Given the description of an element on the screen output the (x, y) to click on. 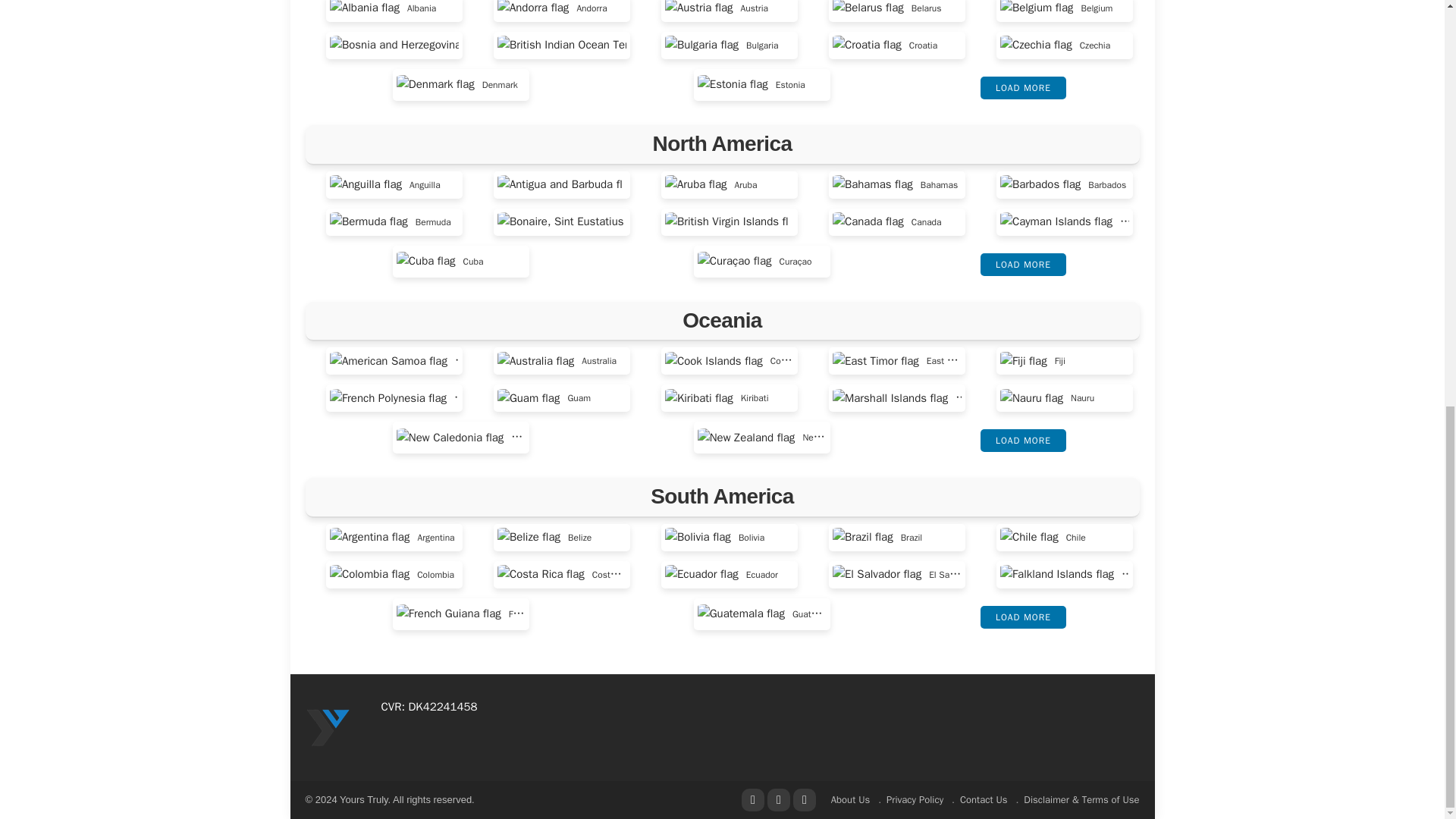
facebook (752, 799)
twitter (778, 799)
instagram (804, 799)
Yours Truly (327, 726)
